Given the description of an element on the screen output the (x, y) to click on. 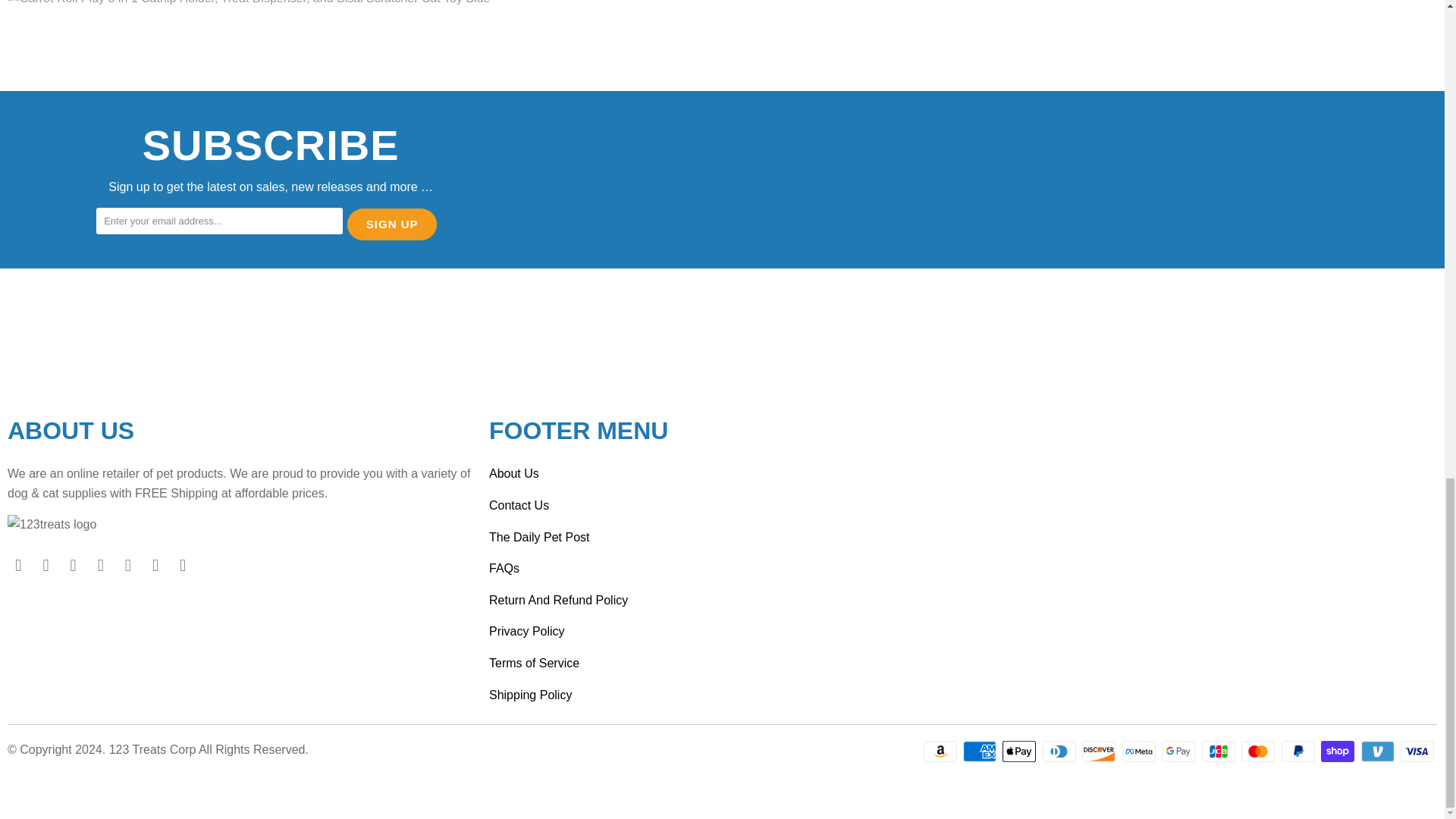
Venmo (1379, 751)
Meta Pay (1140, 751)
PayPal (1299, 751)
Diners Club (1060, 751)
123treats on YouTube (73, 565)
Sign Up (392, 224)
Google Pay (1179, 751)
Discover (1099, 751)
Visa (1418, 751)
123treats on Tumblr (128, 565)
